Given the description of an element on the screen output the (x, y) to click on. 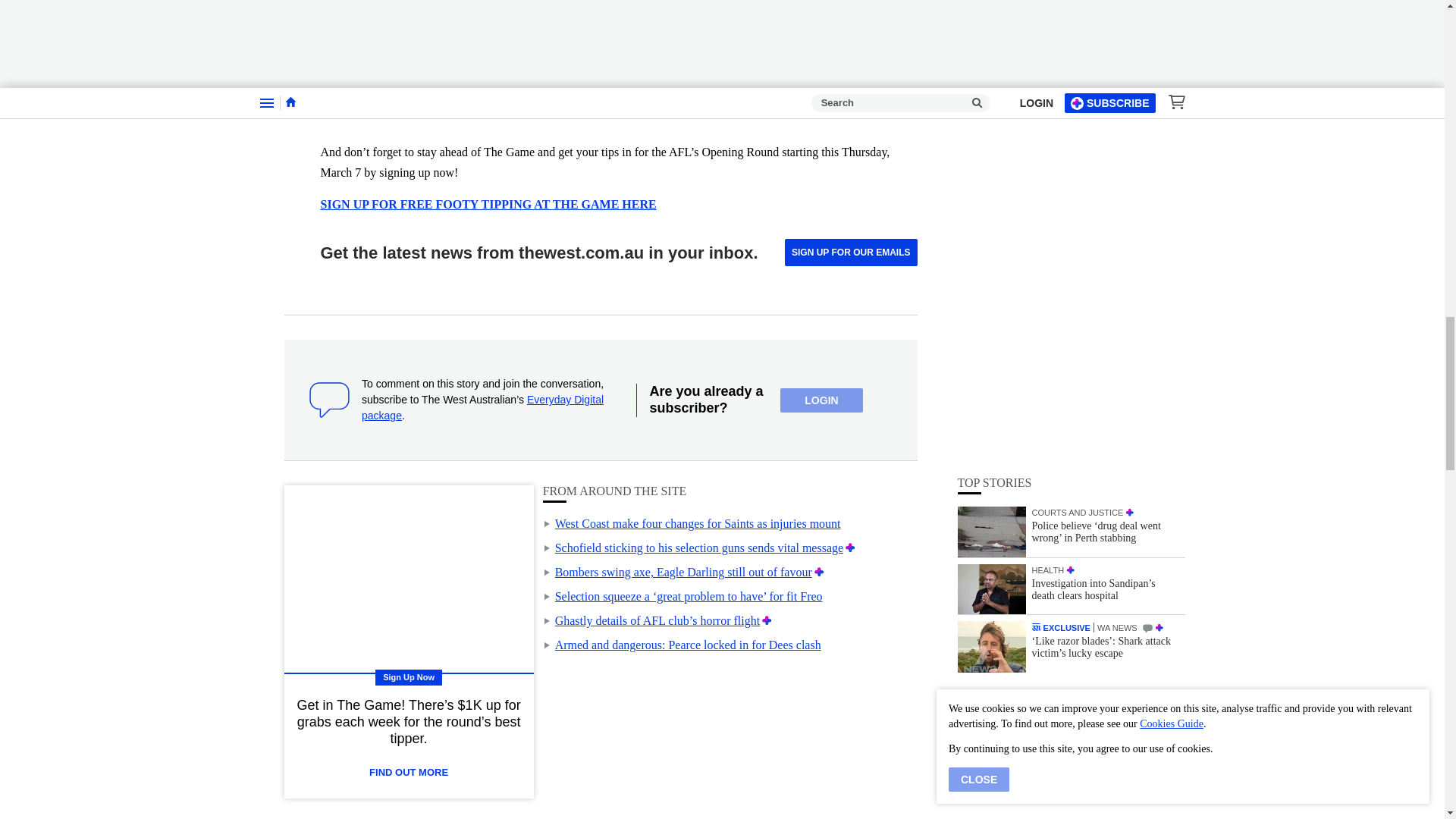
Premium (850, 547)
Premium (766, 620)
Premium (818, 571)
